Given the description of an element on the screen output the (x, y) to click on. 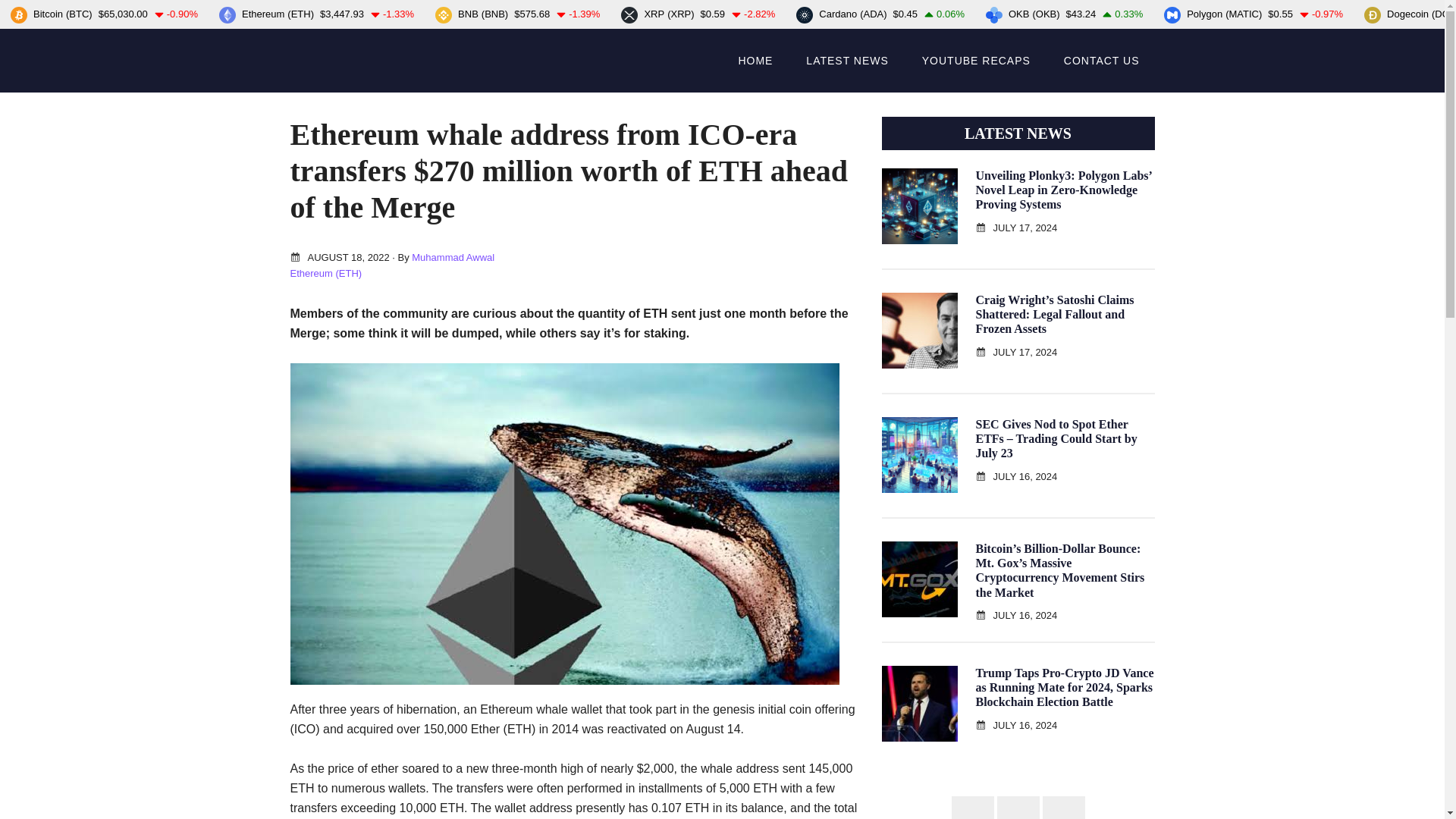
HOME (754, 60)
Muhammad Awwal (453, 256)
YOUTUBE RECAPS (976, 60)
CONTACT US (1101, 60)
LATEST NEWS (847, 60)
